Given the description of an element on the screen output the (x, y) to click on. 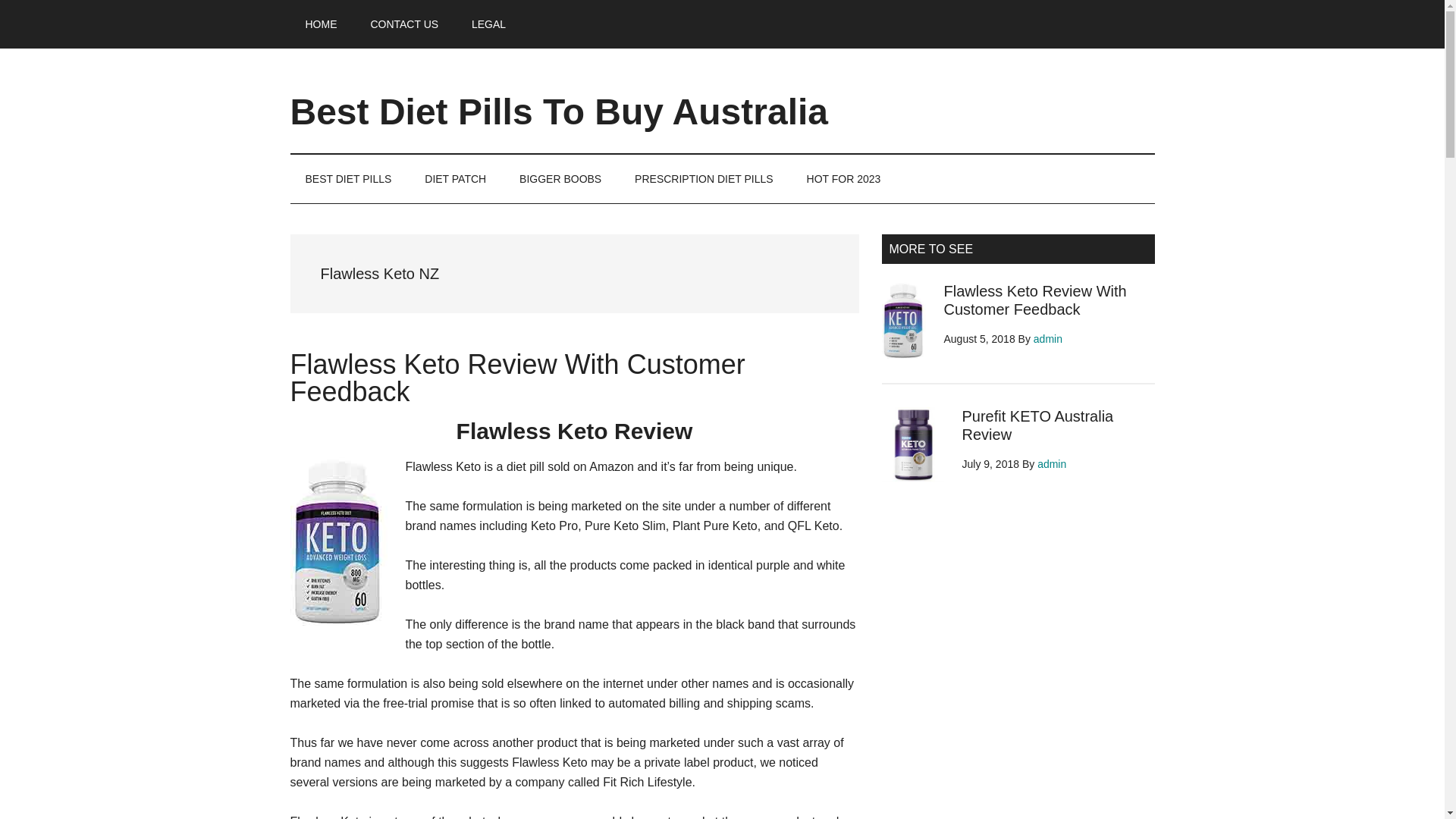
DIET PATCH (454, 178)
HOME (320, 24)
Best Diet Pills To Buy Australia (558, 111)
CONTACT US (403, 24)
Flawless Keto Review With Customer Feedback (1034, 299)
BEST DIET PILLS (347, 178)
BIGGER BOOBS (559, 178)
admin (1047, 338)
HOT FOR 2023 (844, 178)
Purefit KETO Australia Review (1036, 425)
PRESCRIPTION DIET PILLS (704, 178)
LEGAL (489, 24)
admin (1050, 463)
Flawless Keto Review With Customer Feedback (516, 377)
